Given the description of an element on the screen output the (x, y) to click on. 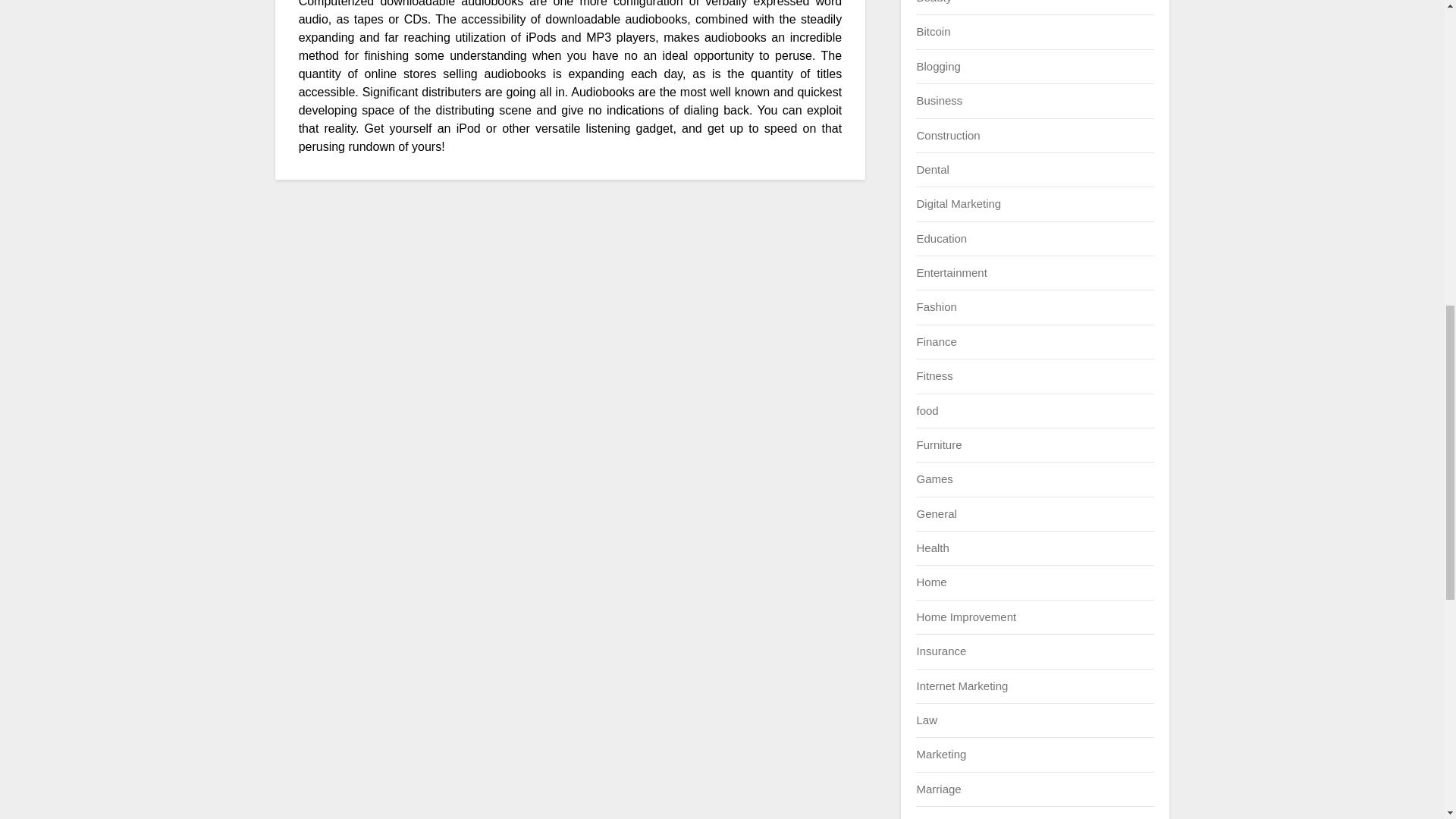
Marriage (937, 788)
Internet Marketing (961, 685)
Digital Marketing (958, 203)
Finance (935, 341)
Games (933, 478)
Law (926, 719)
Business (938, 100)
Education (940, 237)
Dental (932, 169)
Furniture (937, 444)
